Given the description of an element on the screen output the (x, y) to click on. 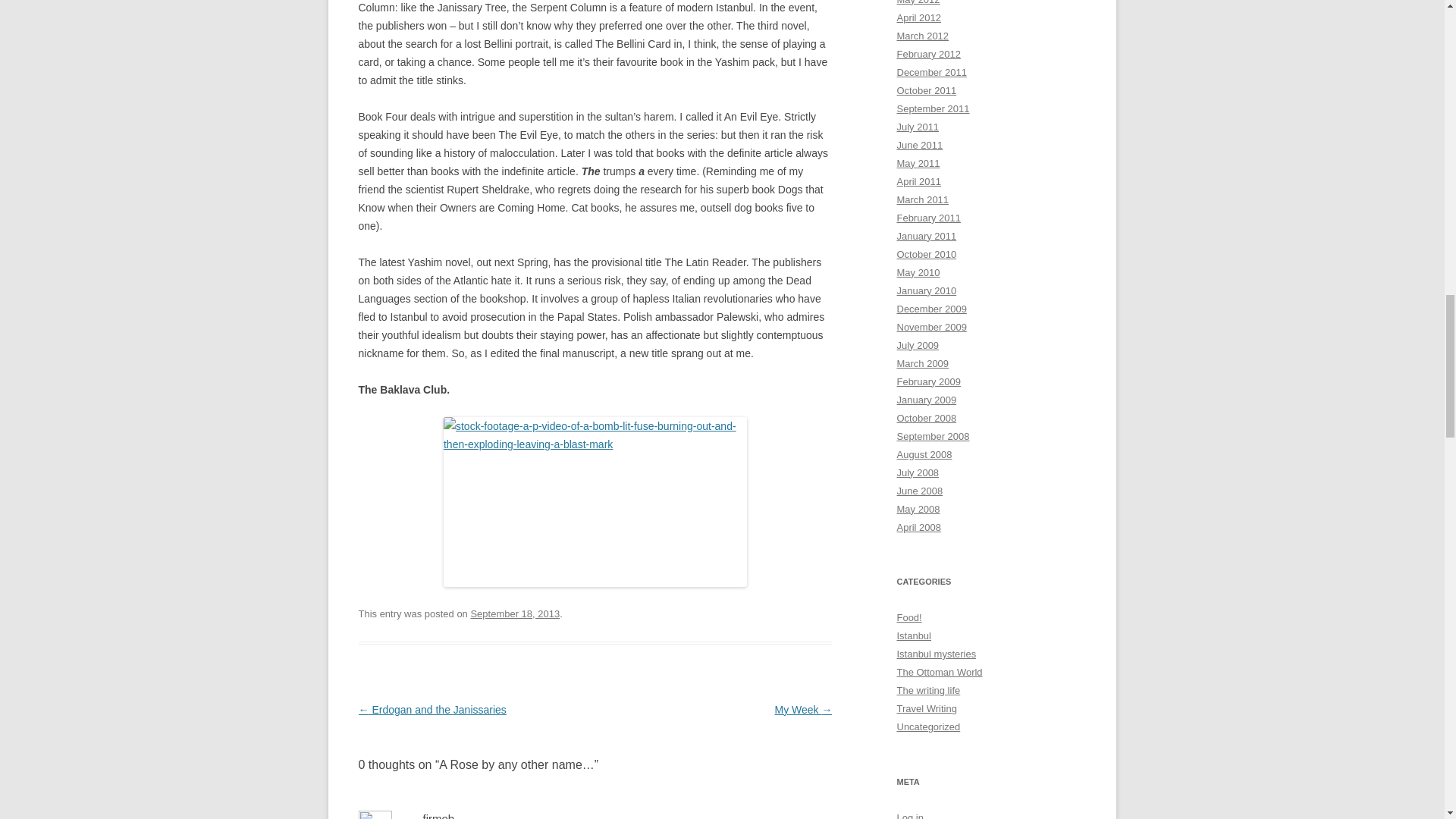
September 18, 2013 (514, 613)
1:25 pm (514, 613)
firmeb (438, 815)
